Given the description of an element on the screen output the (x, y) to click on. 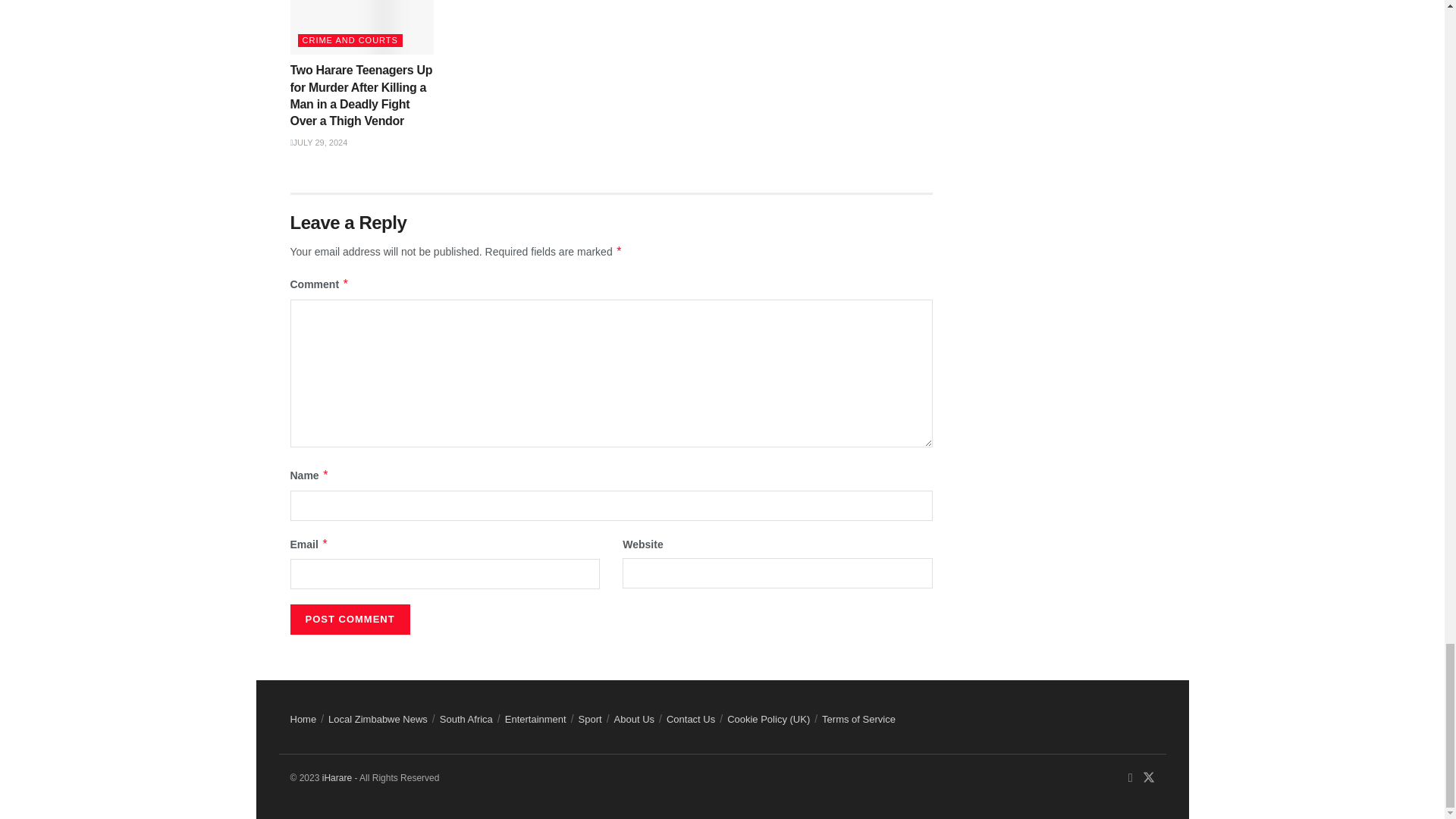
iHarare (336, 777)
Post Comment (349, 619)
